Given the description of an element on the screen output the (x, y) to click on. 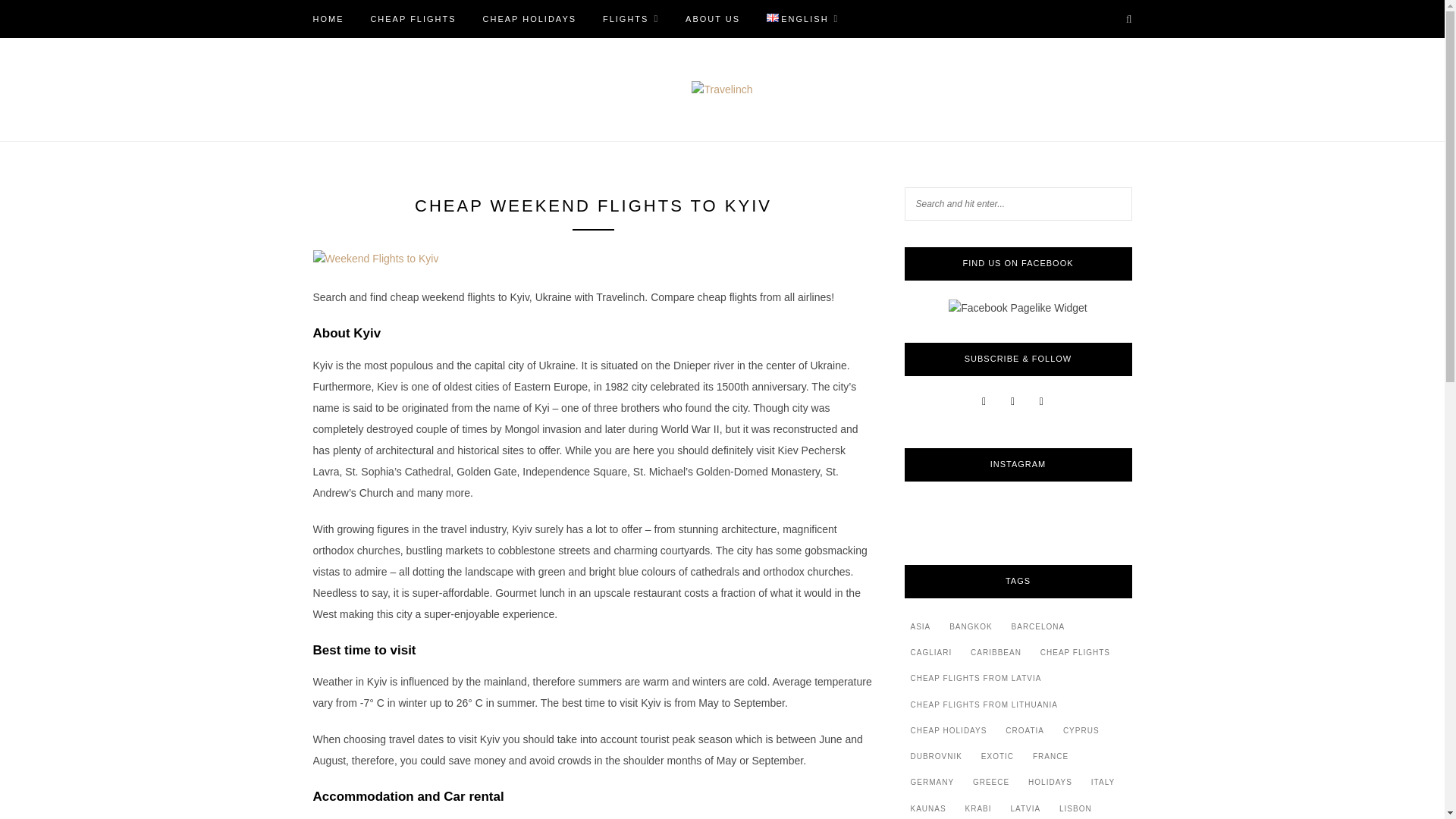
CHEAP HOLIDAYS (528, 18)
CHEAP FLIGHTS (412, 18)
FLIGHTS (630, 18)
English (772, 17)
